Given the description of an element on the screen output the (x, y) to click on. 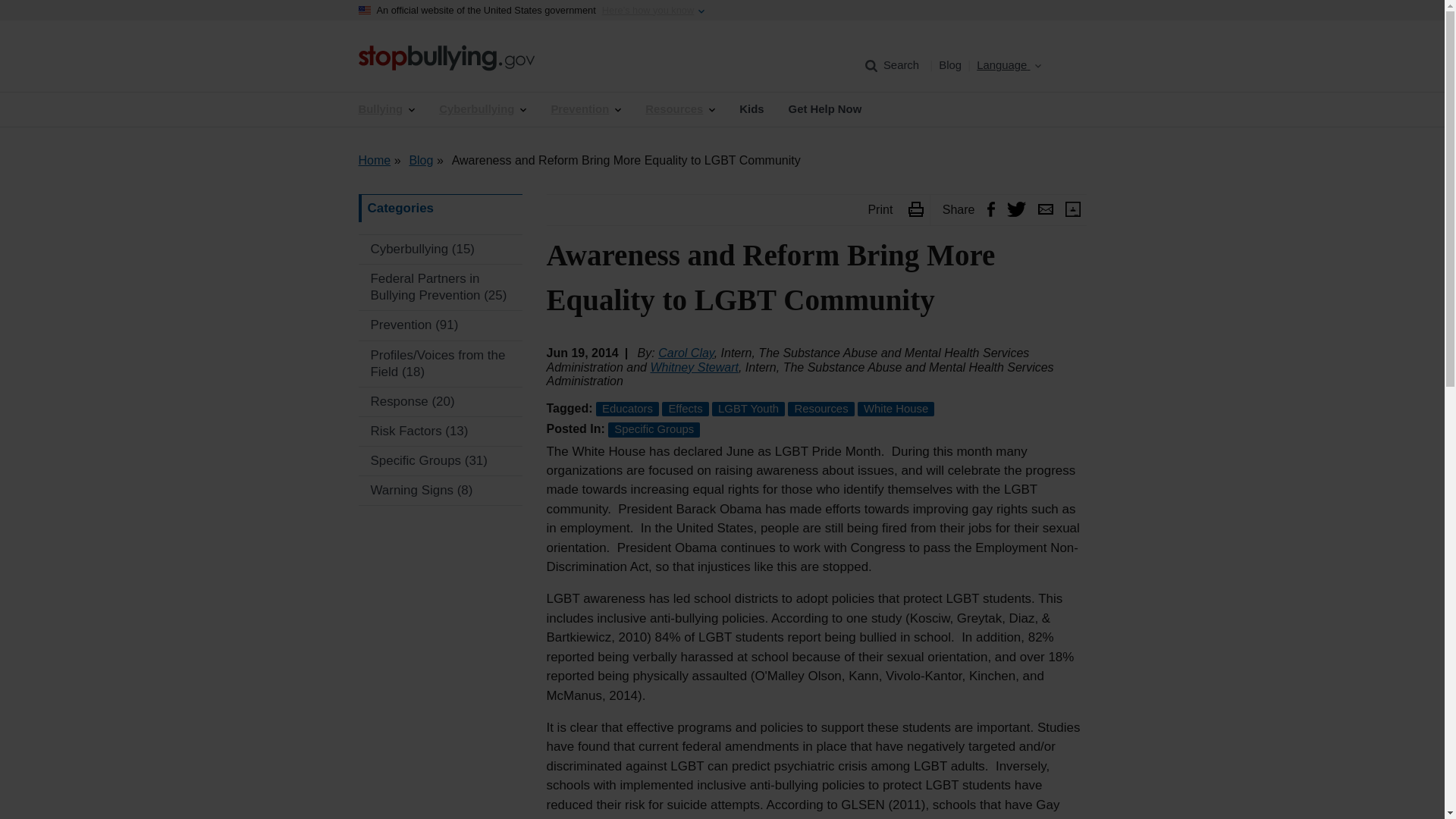
Kids (751, 109)
Educators (627, 409)
Effects (684, 409)
Resources (679, 109)
Search (893, 65)
Response (439, 401)
Get Help Now (825, 109)
White House (895, 409)
Warning Signs (439, 490)
Risk Factors (439, 430)
Federal Partners in Bullying Prevention (439, 287)
Twitter (1016, 210)
Language (1031, 65)
Specific Groups (654, 429)
